Given the description of an element on the screen output the (x, y) to click on. 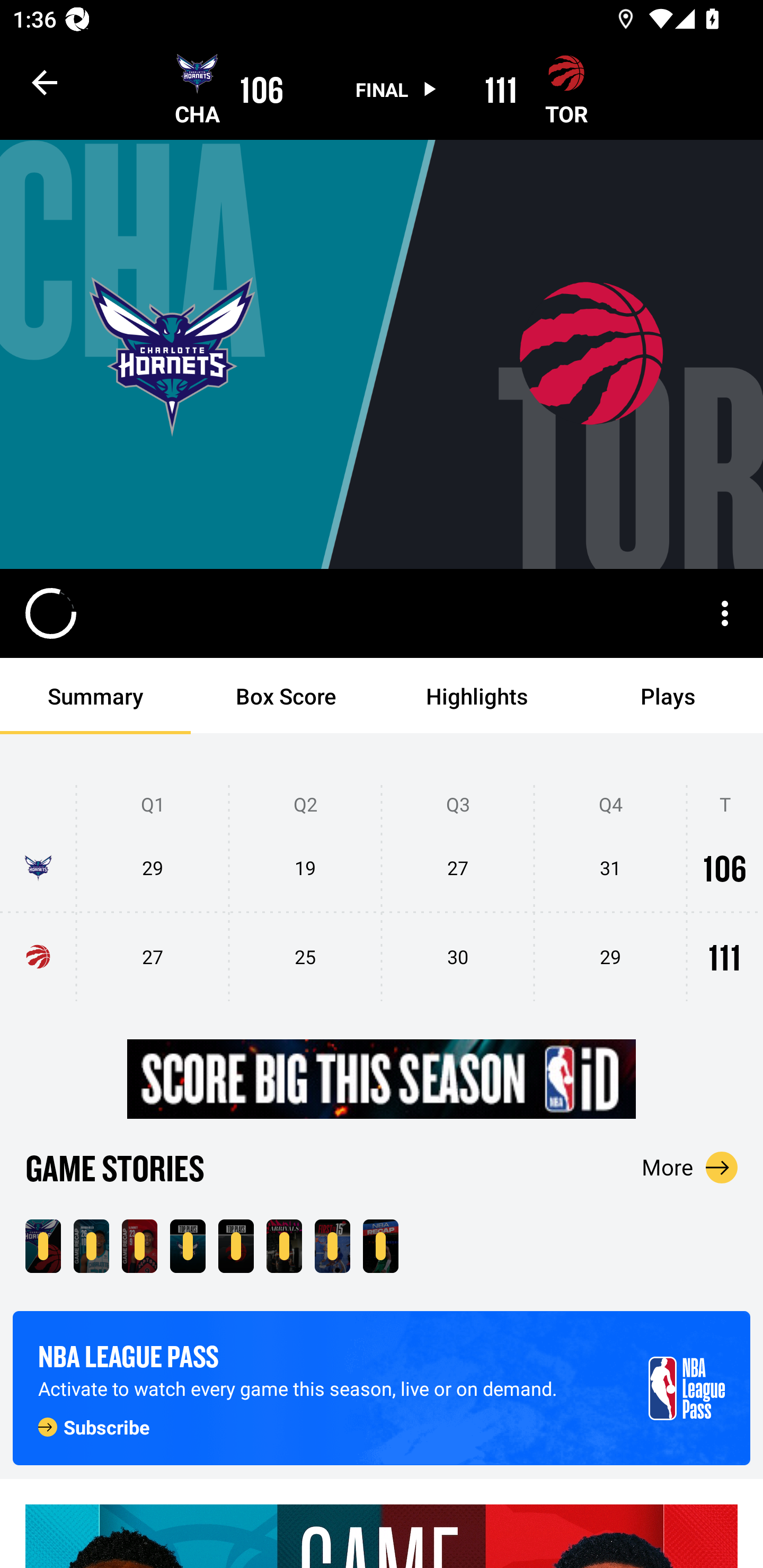
Navigate up (44, 82)
More options (724, 613)
Box Score (285, 695)
Highlights (476, 695)
Plays (667, 695)
Q1 Q2 Q3 Q4 T 29 19 27 31 106 27 25 30 29 111 (381, 893)
More (689, 1166)
NEW TOR 111, CHA 106 - Mar 3 (43, 1246)
NEW Highlights From Brandon Miller's 26-Point Game (91, 1246)
NEW Highlights From RJ Barrett's 23-Point Game (139, 1246)
NEW CHA's Top Plays from CHA vs. TOR (187, 1246)
NEW TOR's Top Plays from CHA vs. TOR (236, 1246)
Steppin' Into Sunday 🔥 NEW (284, 1246)
First To 15, Mar. 3rd NEW (332, 1246)
Sunday's Recap NEW (380, 1246)
